Given the description of an element on the screen output the (x, y) to click on. 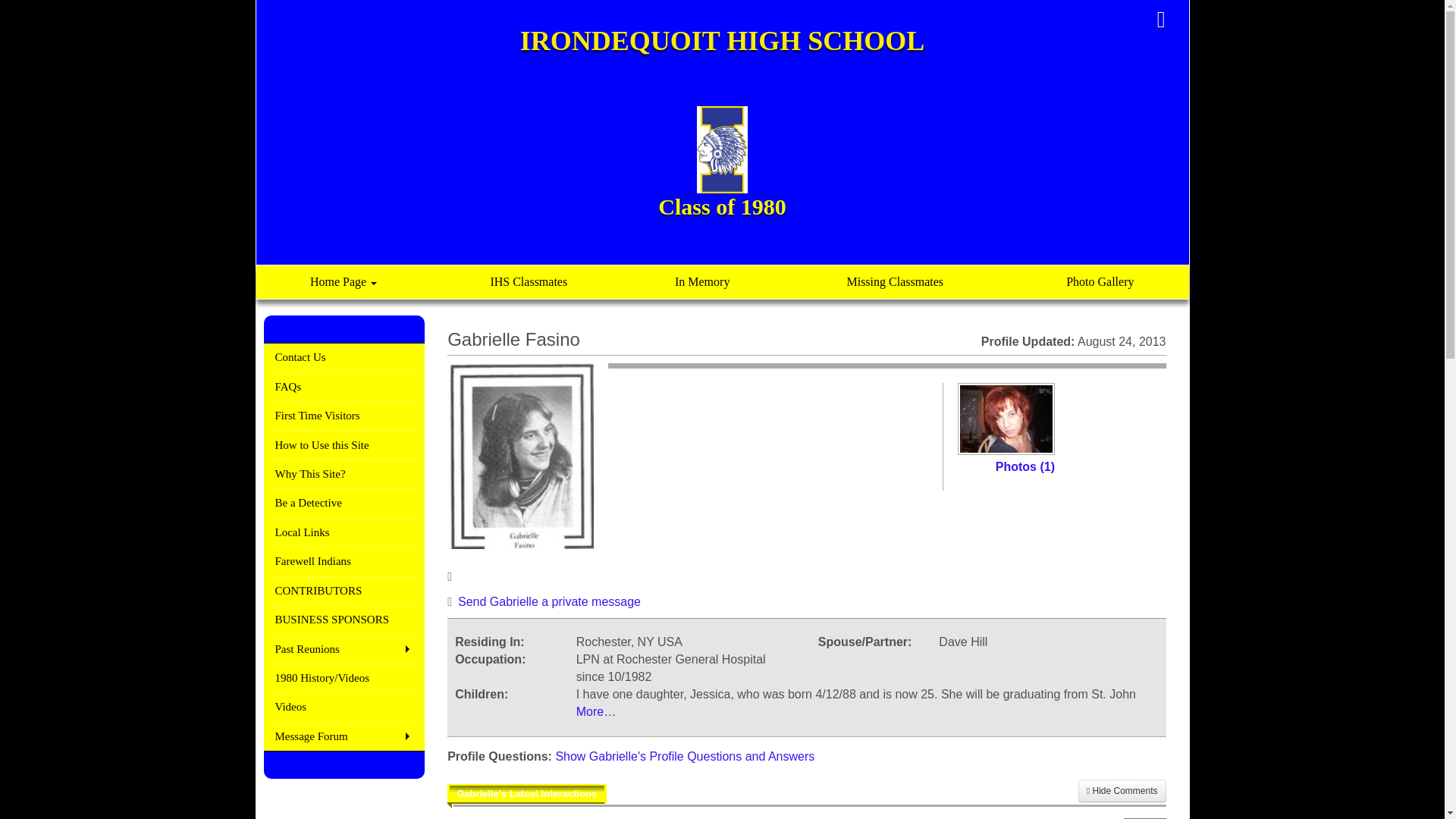
Missing Classmates (894, 281)
Home Page (343, 281)
How to Use this Site (343, 444)
In Memory (701, 281)
FAQs (343, 386)
First Time Visitors (343, 415)
Classmate Login (1160, 20)
Why This Site? (343, 474)
Contact Us (343, 357)
Be a Detective (343, 503)
